Given the description of an element on the screen output the (x, y) to click on. 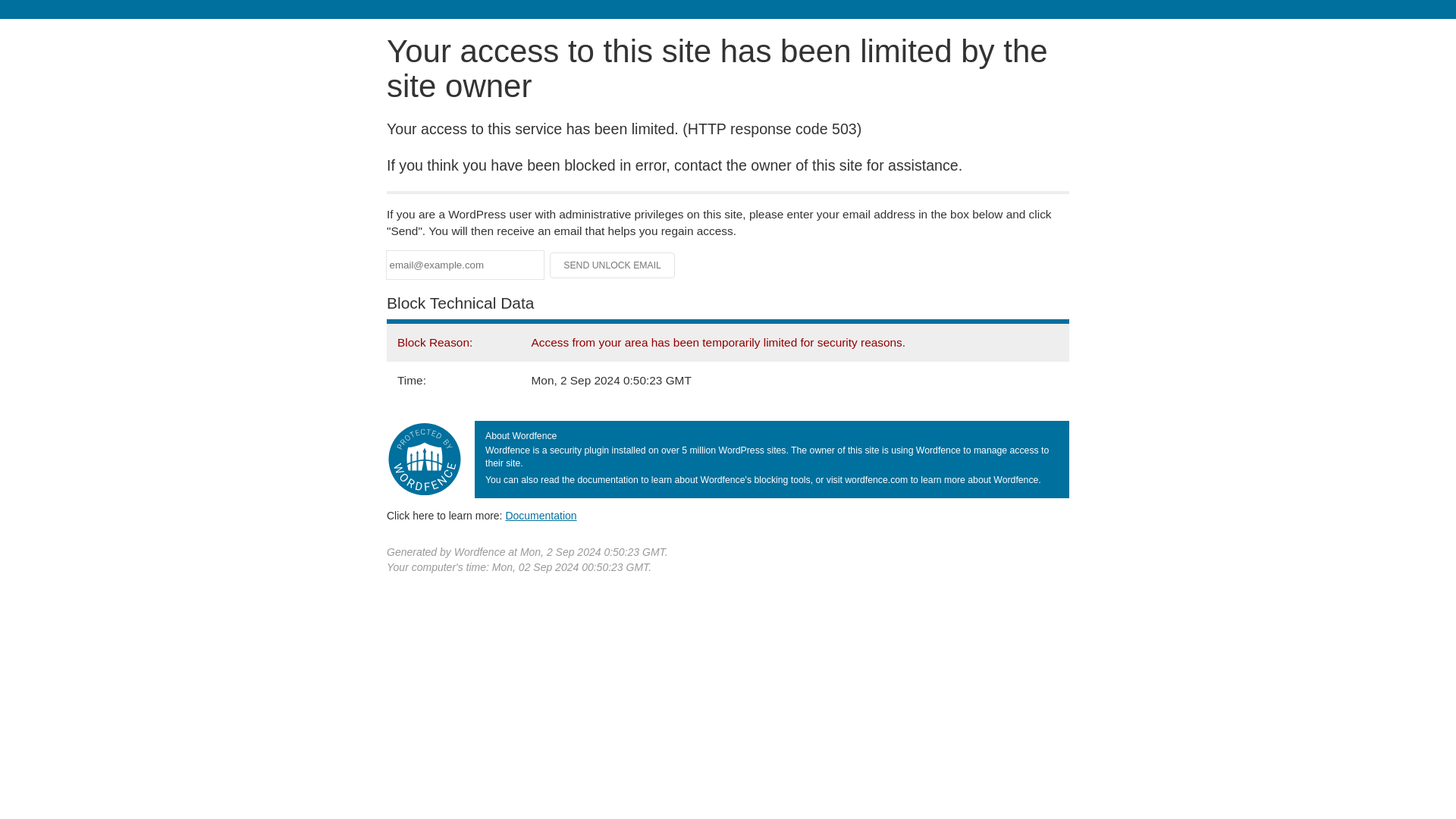
Documentation (540, 515)
Send Unlock Email (612, 265)
Send Unlock Email (612, 265)
